Given the description of an element on the screen output the (x, y) to click on. 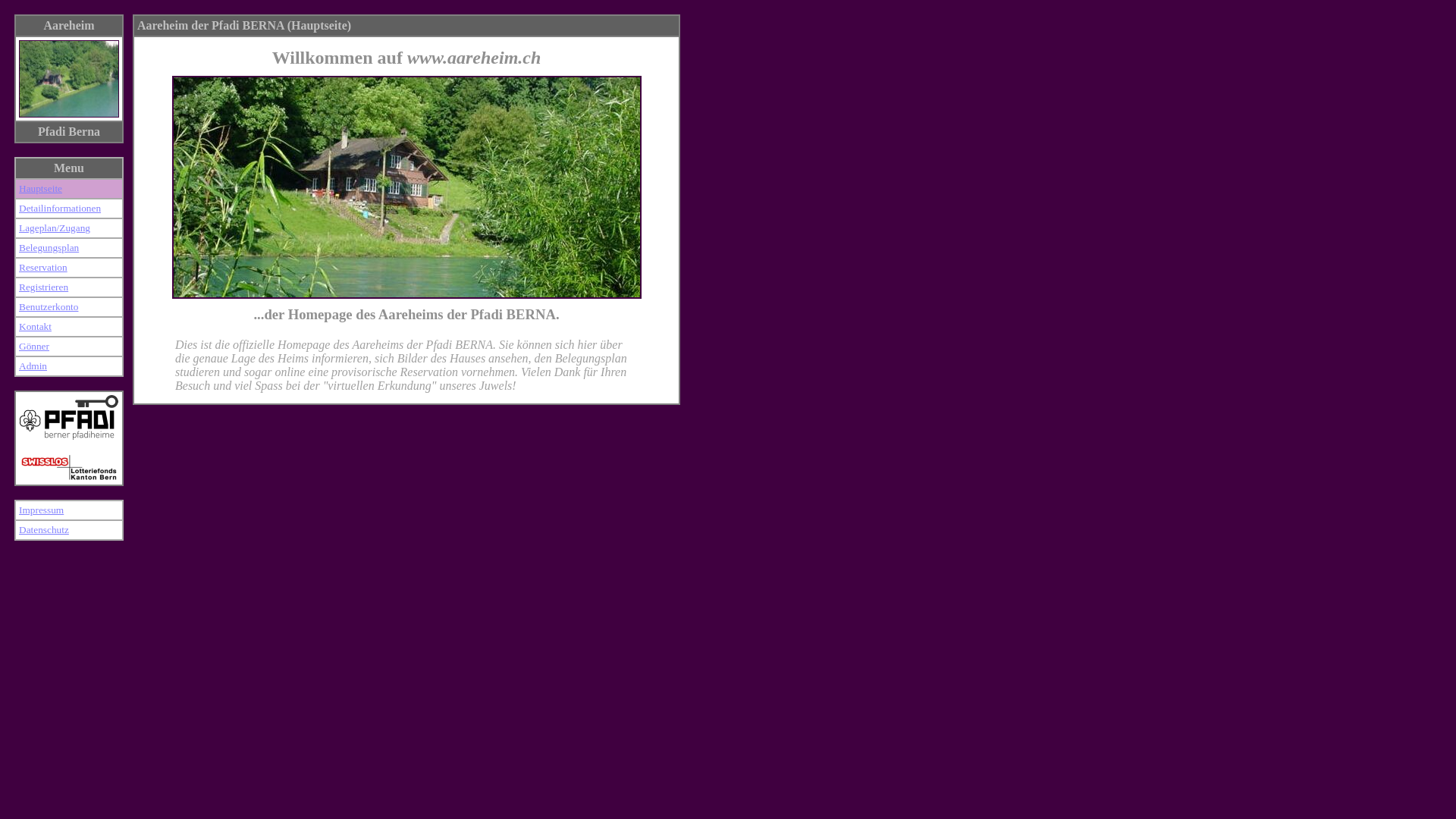
Benutzerkonto Element type: text (48, 306)
Kontakt Element type: text (34, 326)
Hauptseite Element type: text (40, 188)
Aareheim der Pfadi BERNA (Hauptseite) Element type: text (244, 24)
Registrieren Element type: text (43, 286)
Datenschutz Element type: text (43, 529)
Impressum Element type: text (40, 509)
Lageplan/Zugang Element type: text (54, 227)
Reservation Element type: text (42, 267)
Detailinformationen Element type: text (59, 207)
Belegungsplan Element type: text (48, 247)
Admin Element type: text (32, 365)
